Given the description of an element on the screen output the (x, y) to click on. 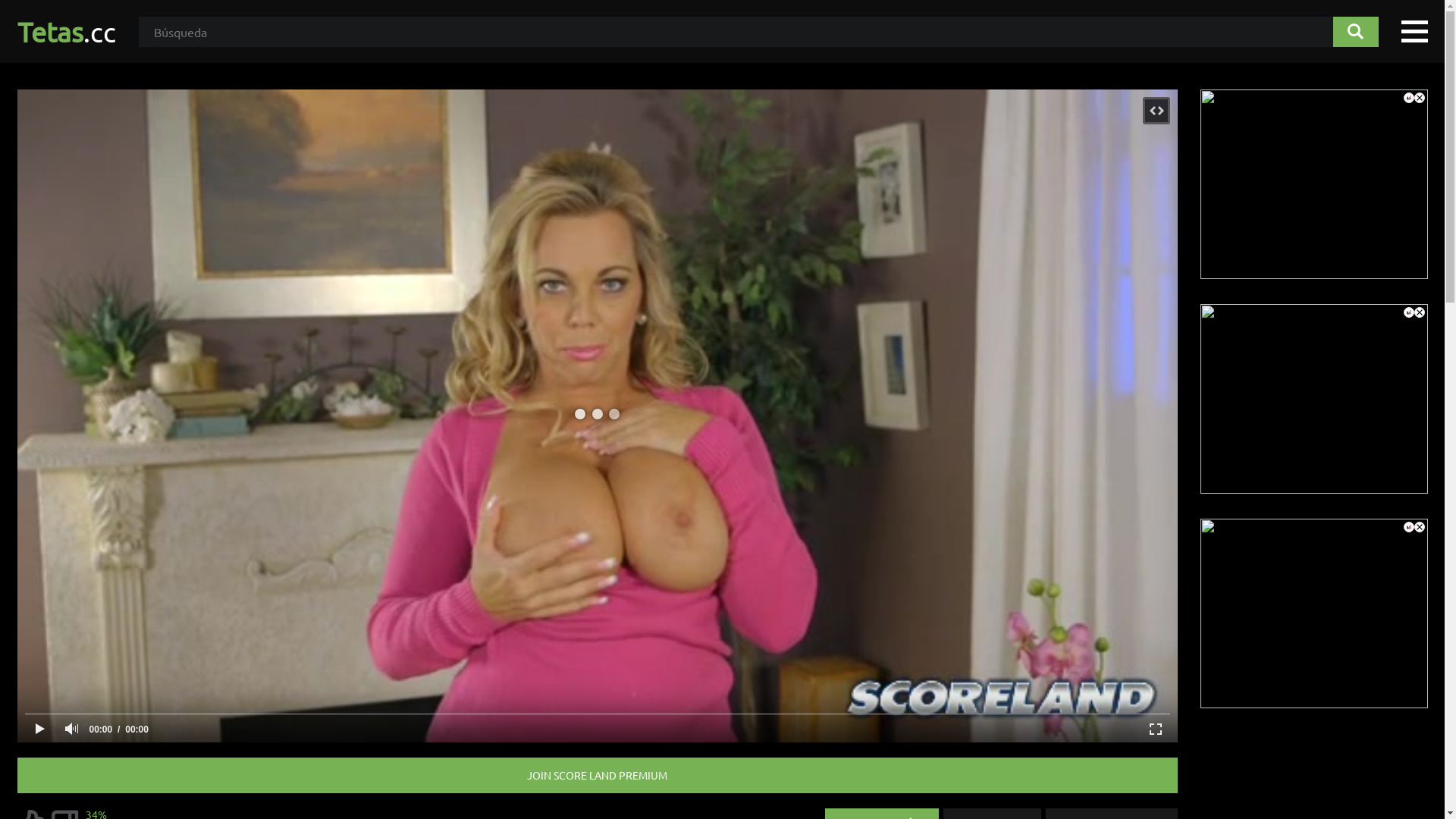
Tetas.cc Element type: text (65, 31)
Copy to your site Element type: hover (1155, 110)
JOIN SCORE LAND PREMIUM Element type: text (596, 775)
